Given the description of an element on the screen output the (x, y) to click on. 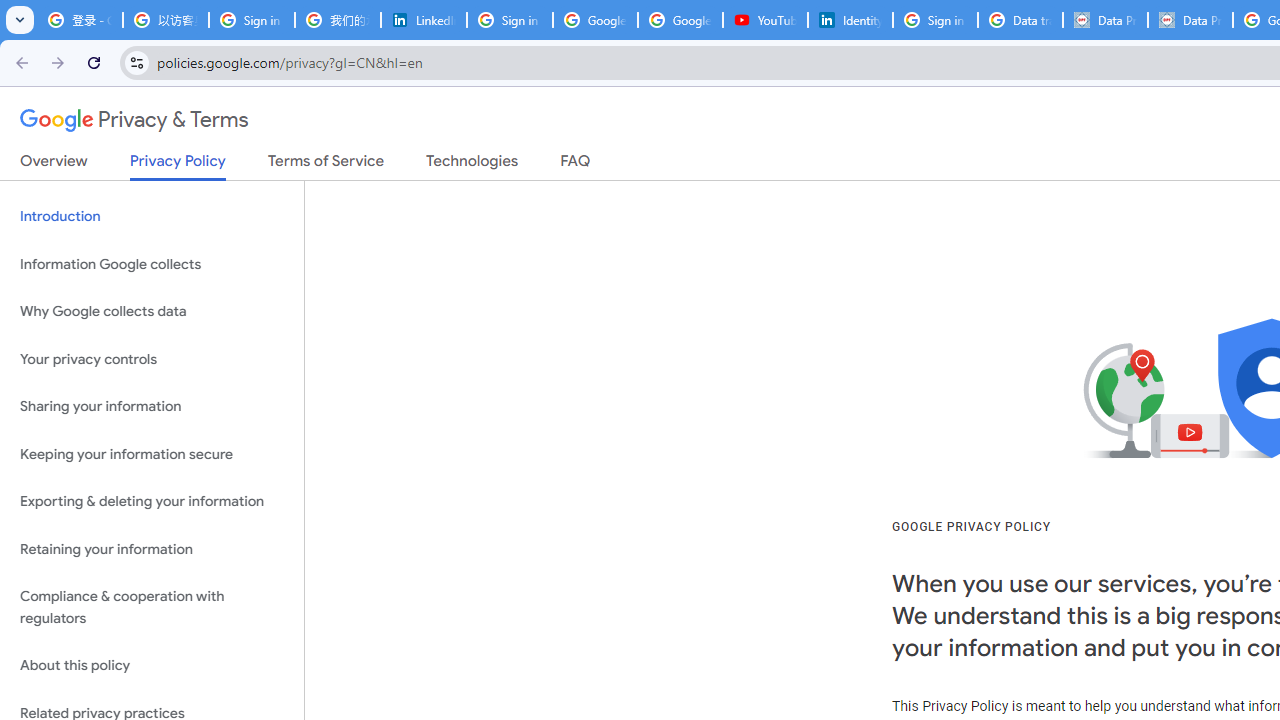
Sign in - Google Accounts (251, 20)
Data Privacy Framework (1190, 20)
Keeping your information secure (152, 453)
Data Privacy Framework (1105, 20)
Sign in - Google Accounts (509, 20)
LinkedIn Privacy Policy (424, 20)
